Given the description of an element on the screen output the (x, y) to click on. 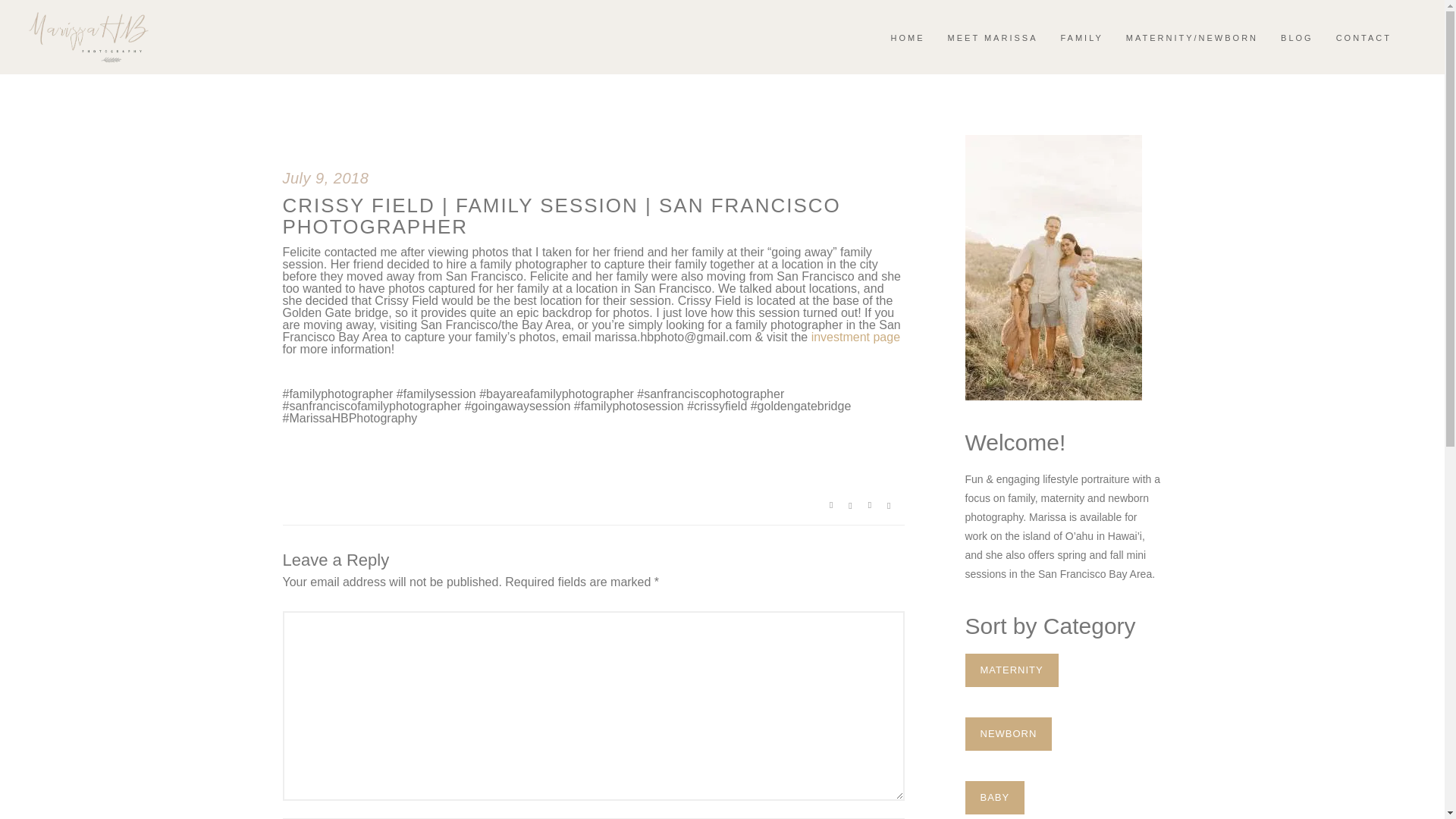
BABY (994, 797)
Home (908, 37)
Family (1080, 37)
NEWBORN (1007, 734)
CONTACT (1363, 37)
Meet Marissa (992, 37)
Blog (1296, 37)
FAMILY (1080, 37)
BLOG (1296, 37)
MATERNITY (1010, 670)
